Given the description of an element on the screen output the (x, y) to click on. 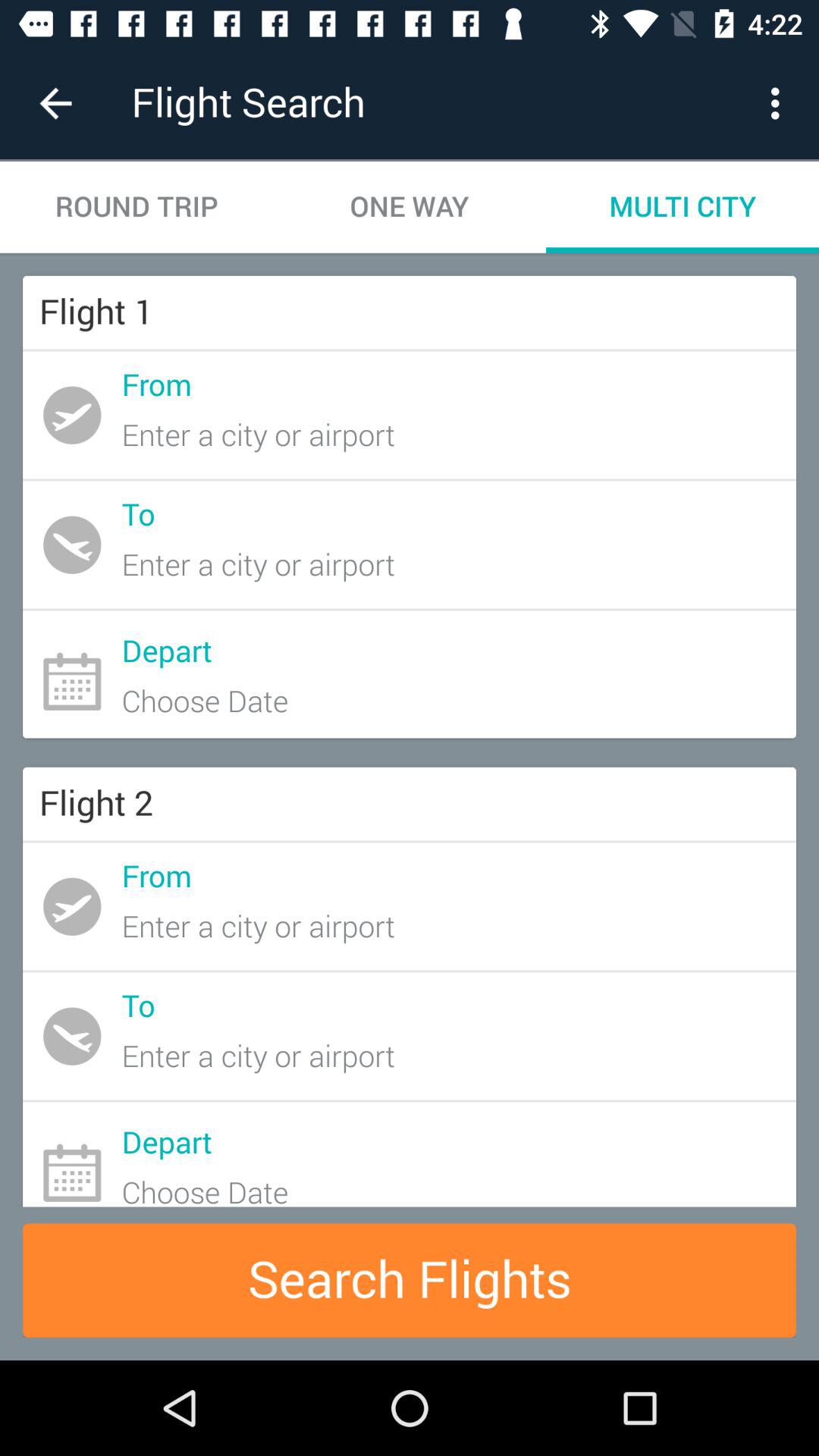
turn on icon next to the round trip item (409, 207)
